Given the description of an element on the screen output the (x, y) to click on. 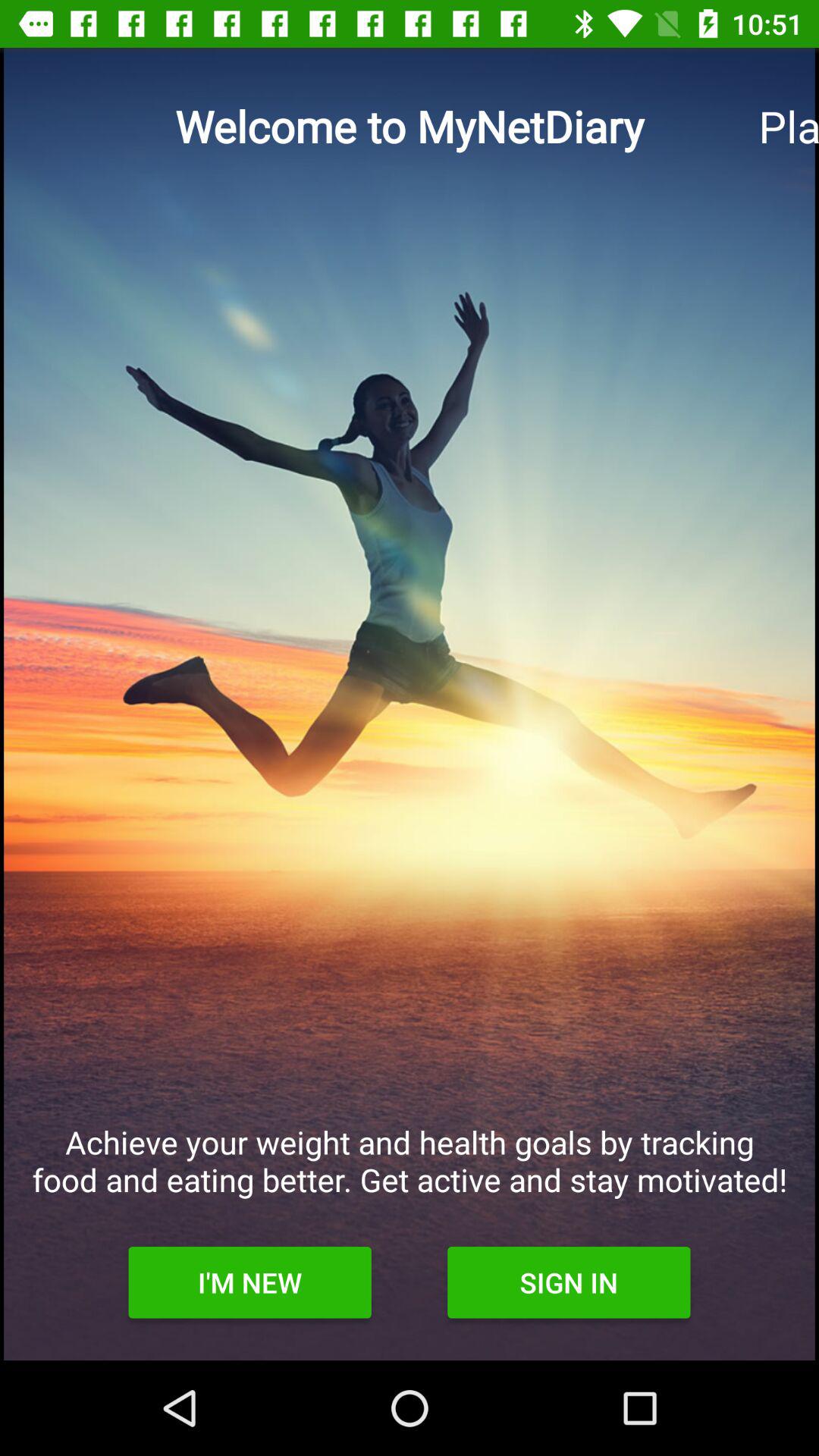
choose the sign in (568, 1282)
